Given the description of an element on the screen output the (x, y) to click on. 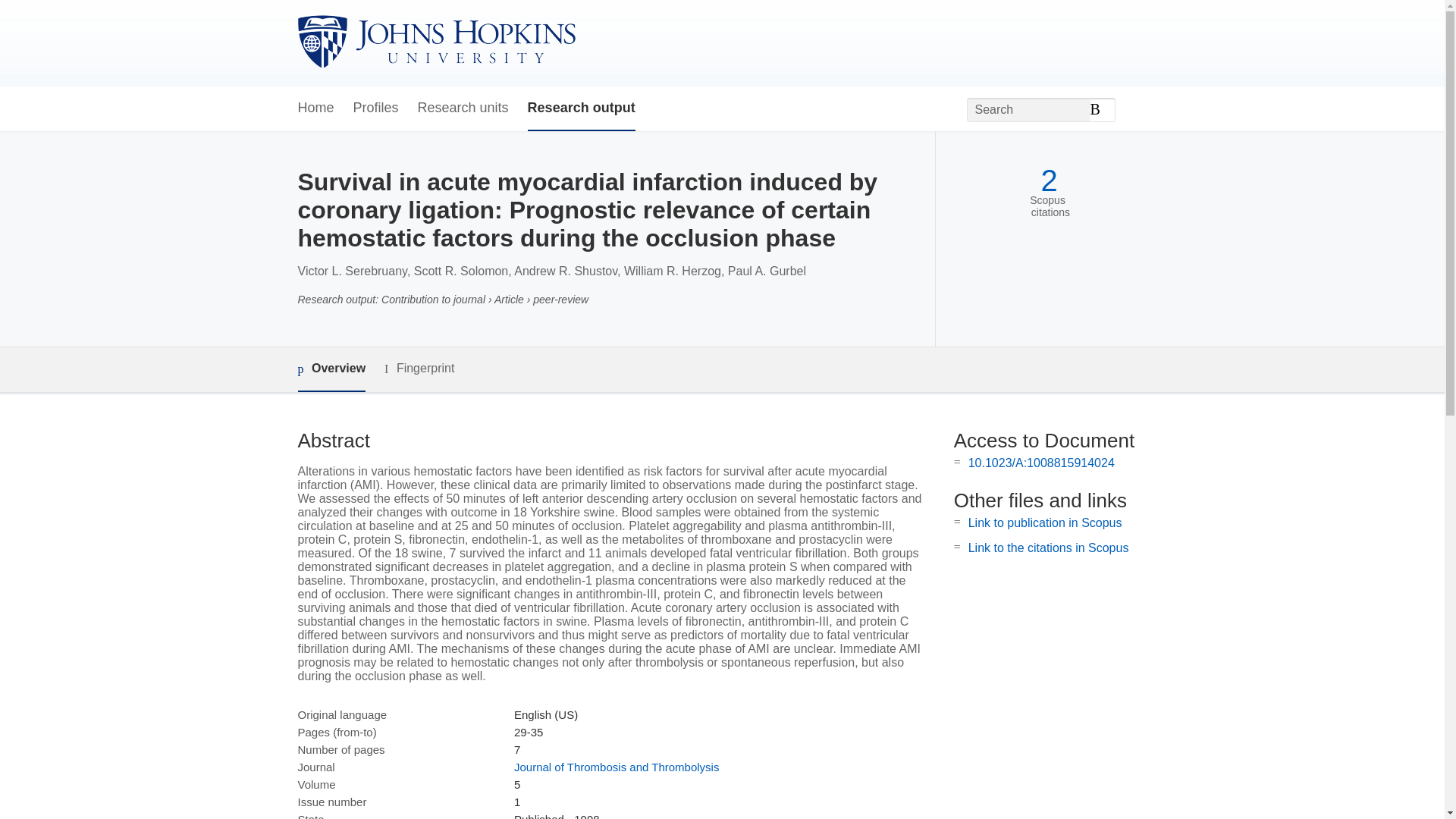
Johns Hopkins University Home (436, 43)
Link to the citations in Scopus (1048, 547)
Research units (462, 108)
Overview (331, 369)
Fingerprint (419, 368)
Research output (580, 108)
Profiles (375, 108)
Journal of Thrombosis and Thrombolysis (616, 766)
Link to publication in Scopus (1045, 522)
